Given the description of an element on the screen output the (x, y) to click on. 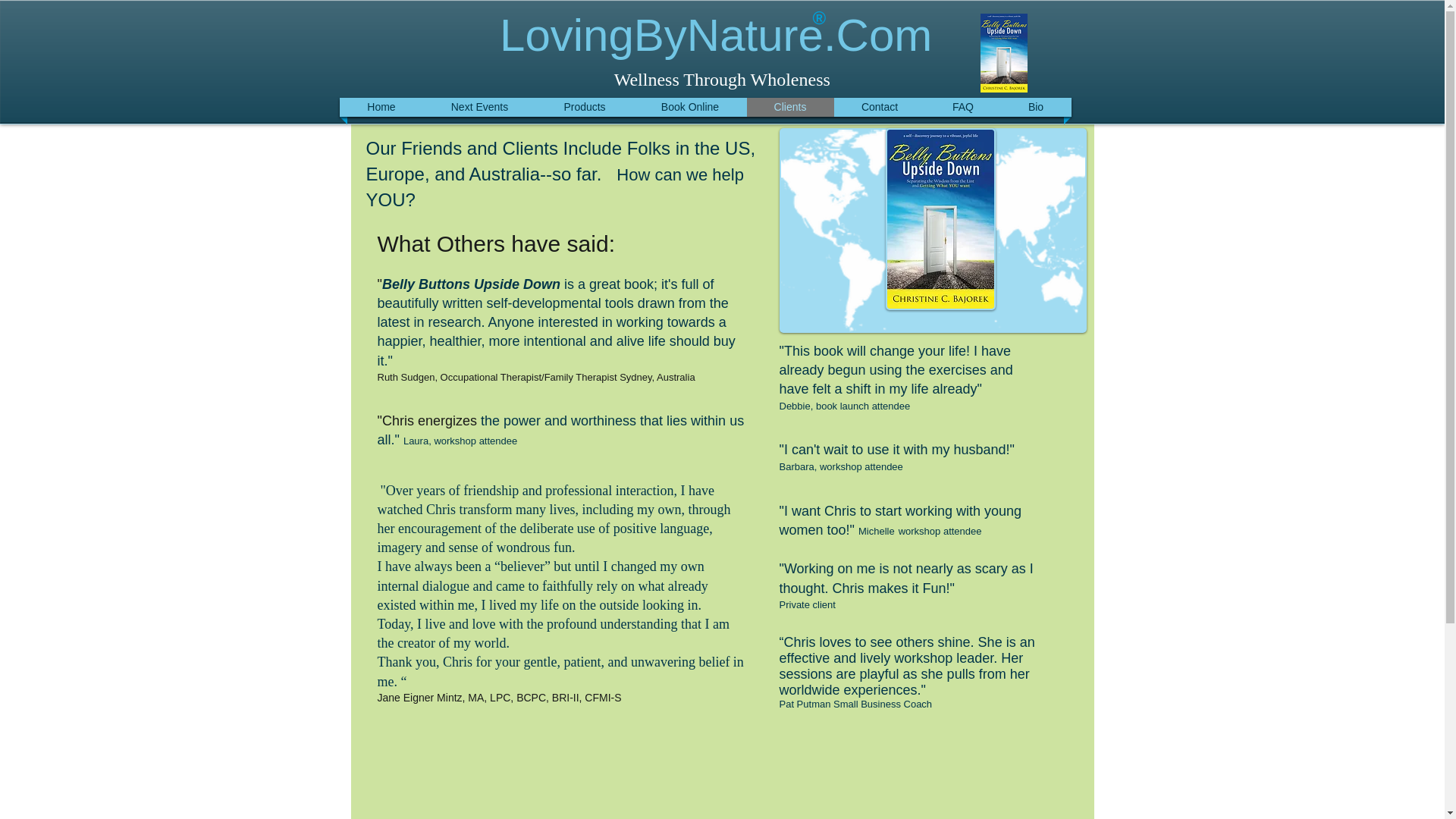
Products (585, 107)
Contact (879, 107)
Bio (1035, 107)
Book Online (689, 107)
FAQ (963, 107)
Home (380, 107)
Clients (790, 107)
Next Events (480, 107)
